Given the description of an element on the screen output the (x, y) to click on. 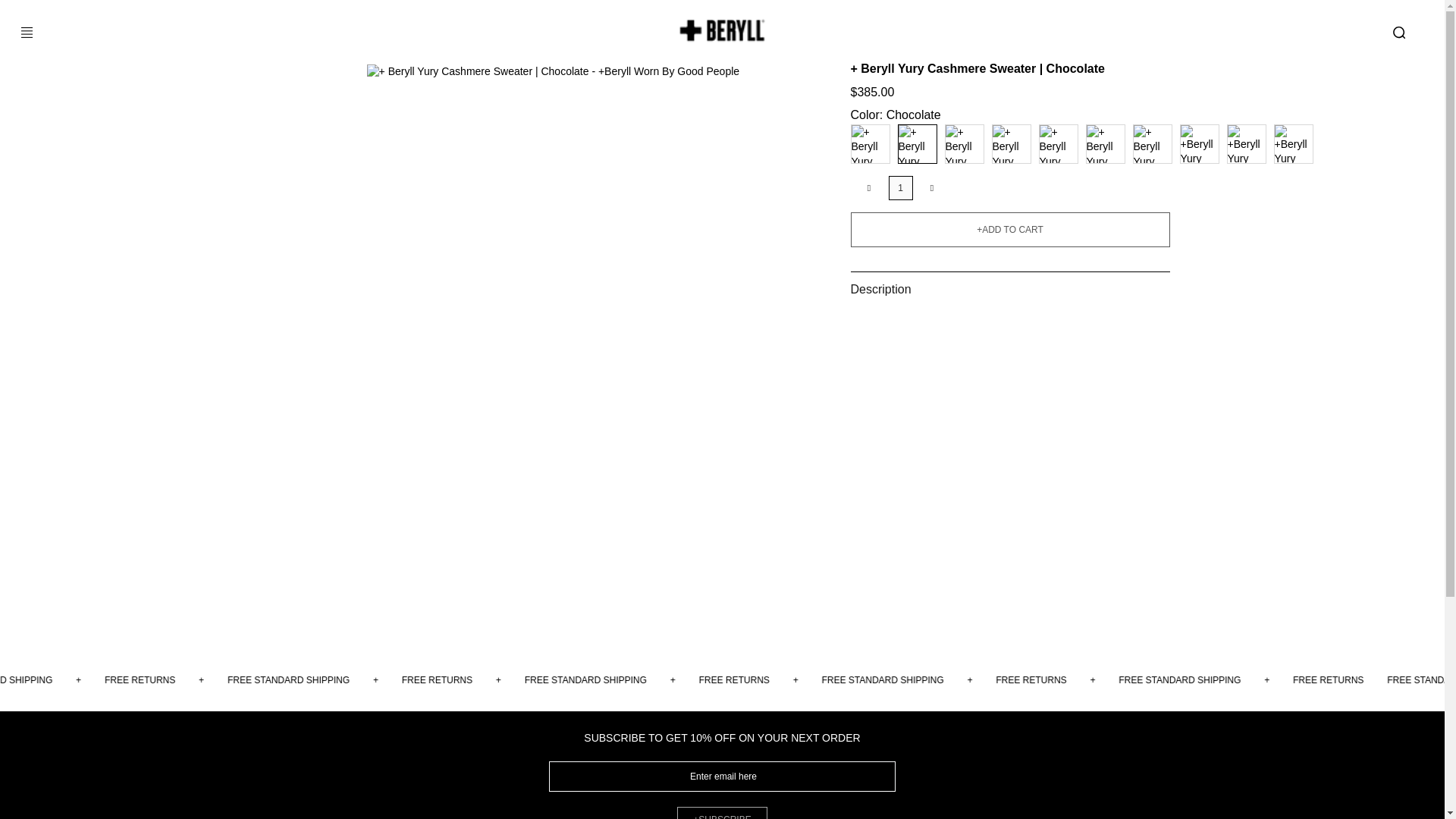
1 (900, 187)
